Given the description of an element on the screen output the (x, y) to click on. 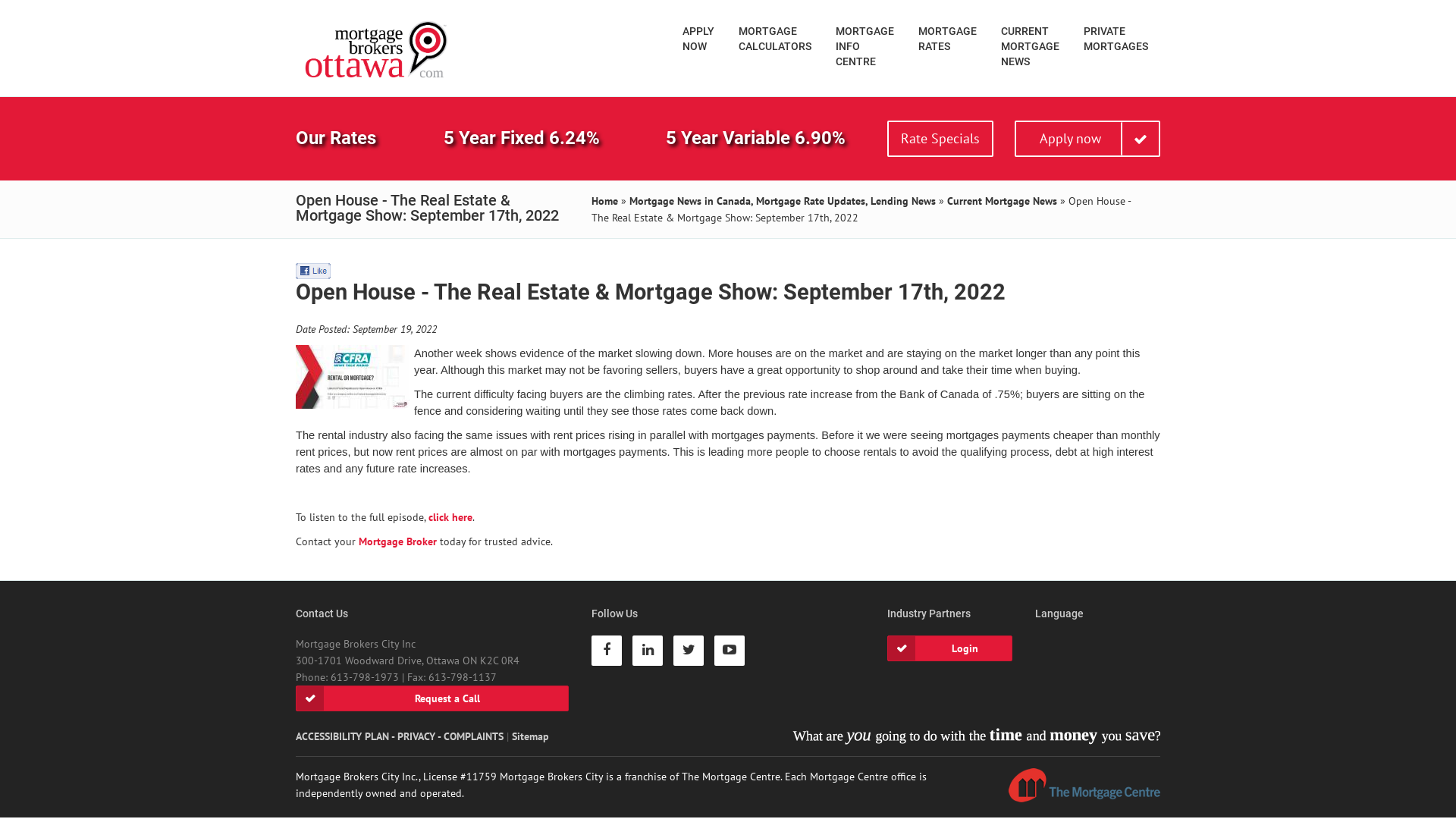
Mortgage Broker Element type: text (397, 541)
APPLY
NOW Element type: text (698, 37)
CURRENT
MORTGAGE
NEWS Element type: text (1029, 45)
Request a Call Element type: text (431, 698)
ACCESSIBILITY PLAN - PRIVACY - COMPLAINTS Element type: text (399, 736)
Home Element type: text (604, 200)
Our Rates Element type: text (335, 137)
MORTGAGE
RATES Element type: text (947, 37)
Sitemap Element type: text (530, 736)
Mortgage Brokers Ottawa Element type: hover (377, 49)
MORTGAGE
CALCULATORS Element type: text (774, 37)
MORTGAGE
INFO
CENTRE Element type: text (864, 45)
Mortgage News in Canada, Mortgage Rate Updates, Lending News Element type: text (782, 200)
Apply now Element type: text (1087, 138)
click here Element type: text (450, 517)
What are you doing to do with the time and money you save Element type: hover (976, 736)
Current Mortgage News Element type: text (1002, 200)
PRIVATE
MORTGAGES Element type: text (1115, 37)
Login Element type: text (949, 648)
Rate Specials Element type: text (940, 138)
